Given the description of an element on the screen output the (x, y) to click on. 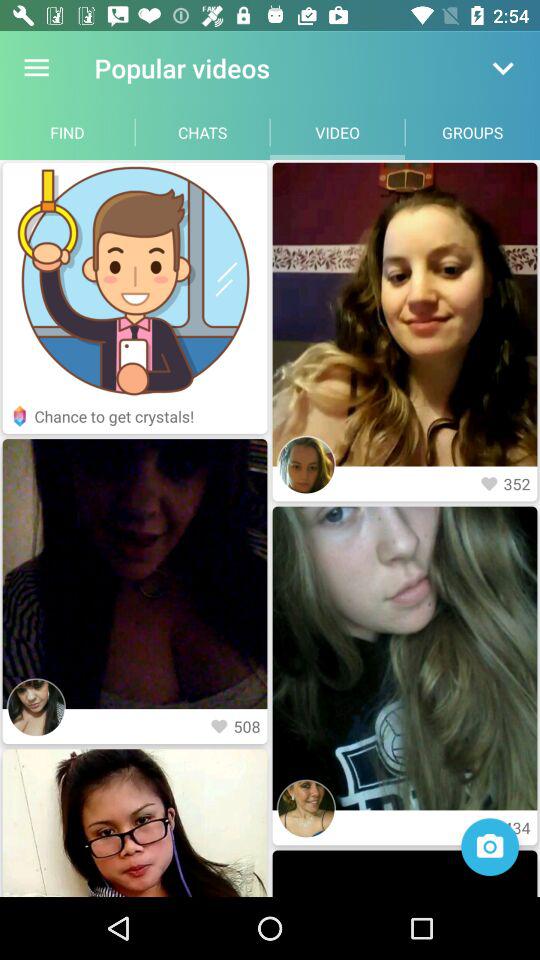
press item to the left of chats (67, 132)
